Given the description of an element on the screen output the (x, y) to click on. 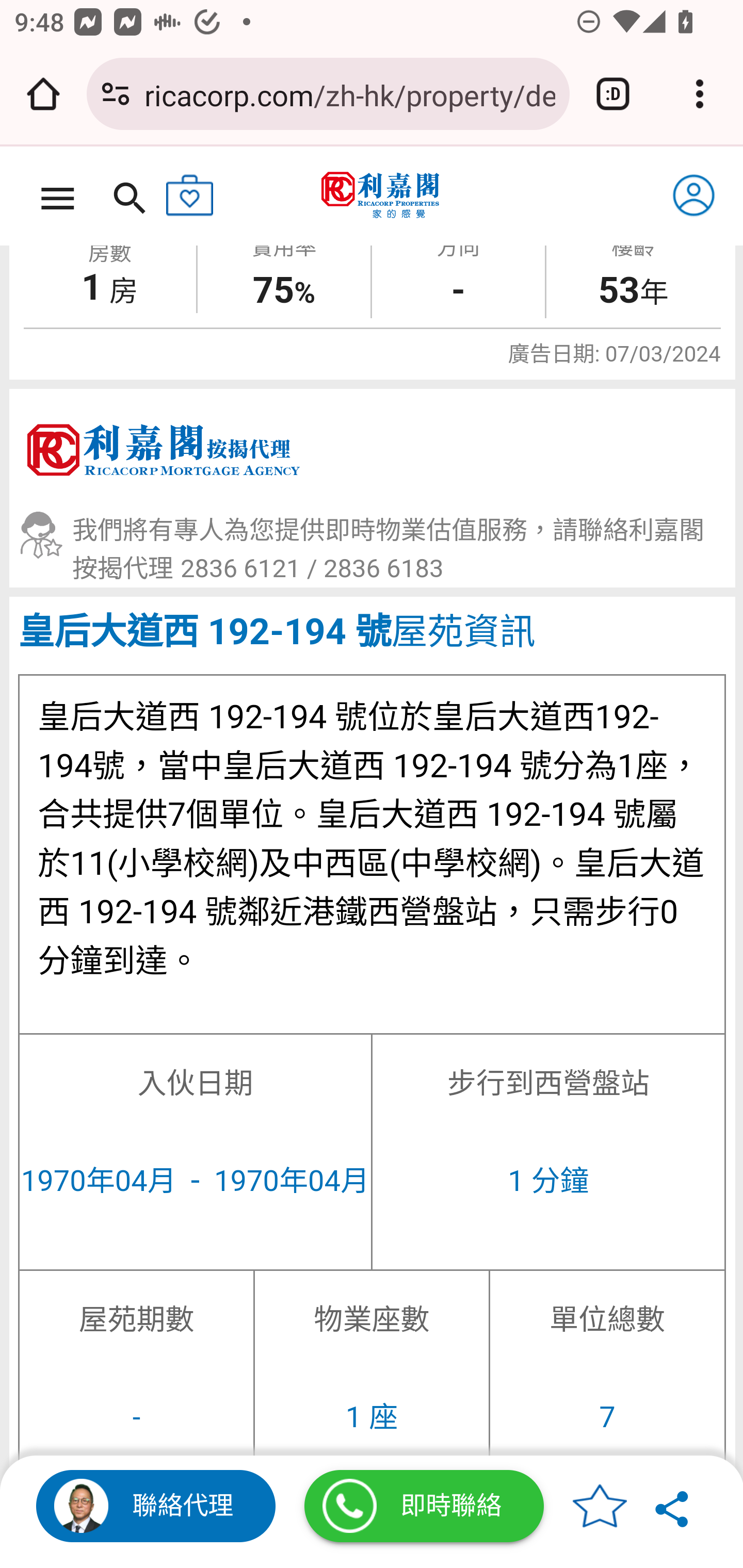
Open the home page (43, 93)
Connection is secure (115, 93)
Switch or close tabs (612, 93)
Customize and control Google Chrome (699, 93)
Thomas Chan 聯絡代理 (156, 1508)
whatsapp 即時聯絡 (424, 1508)
Share button (672, 1508)
